Given the description of an element on the screen output the (x, y) to click on. 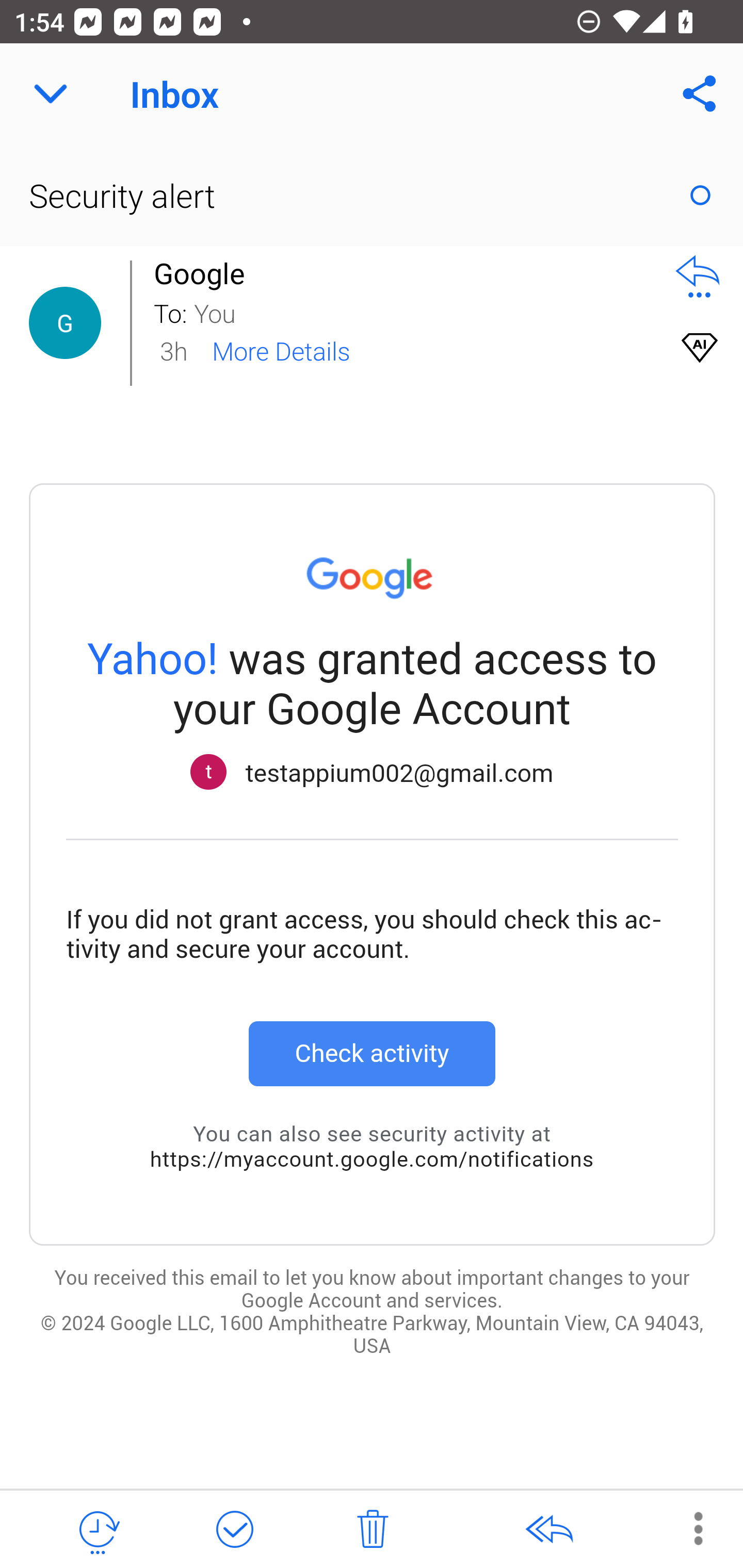
Navigate up (50, 93)
Share (699, 93)
Mark as Read (699, 194)
Google (204, 273)
Contact Details (64, 322)
You (422, 311)
More Details (280, 349)
Check activity (371, 1052)
More Options (687, 1528)
Snooze (97, 1529)
Mark as Done (234, 1529)
Delete (372, 1529)
Reply All (548, 1529)
